Given the description of an element on the screen output the (x, y) to click on. 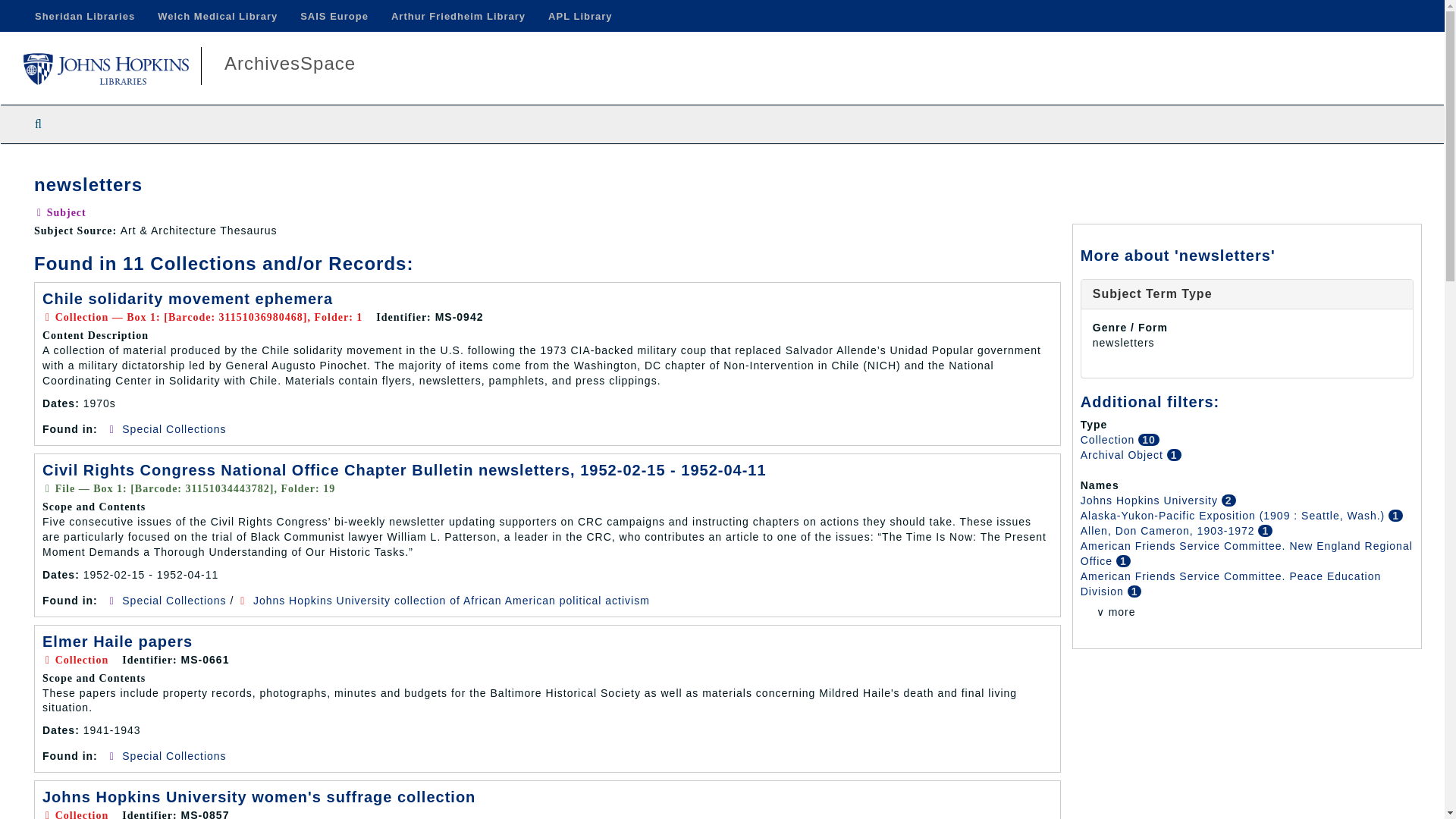
Special Collections (173, 756)
Filter By 'Johns Hopkins University' (1150, 500)
Search The Archives (38, 124)
Archival Object (1123, 454)
Special Collections (173, 600)
Page Actions (1130, 167)
Allen, Don Cameron, 1903-1972 (1169, 530)
Sheridan Libraries (85, 15)
Chile solidarity movement ephemera (187, 298)
Johns Hopkins University (1150, 500)
Special Collections (173, 428)
Filter By 'Collection' (1109, 439)
